Given the description of an element on the screen output the (x, y) to click on. 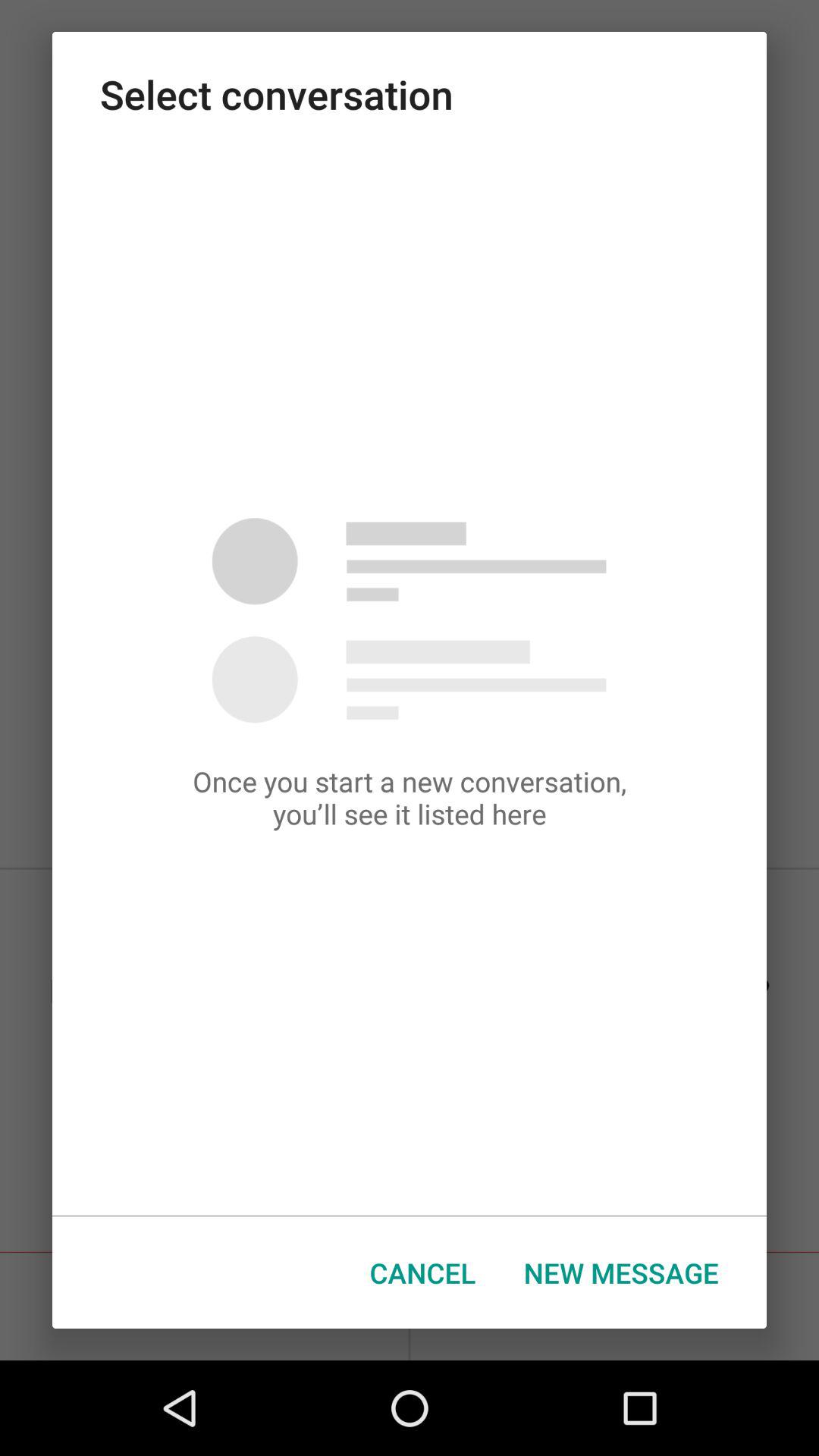
open the button to the left of the new message button (422, 1272)
